Given the description of an element on the screen output the (x, y) to click on. 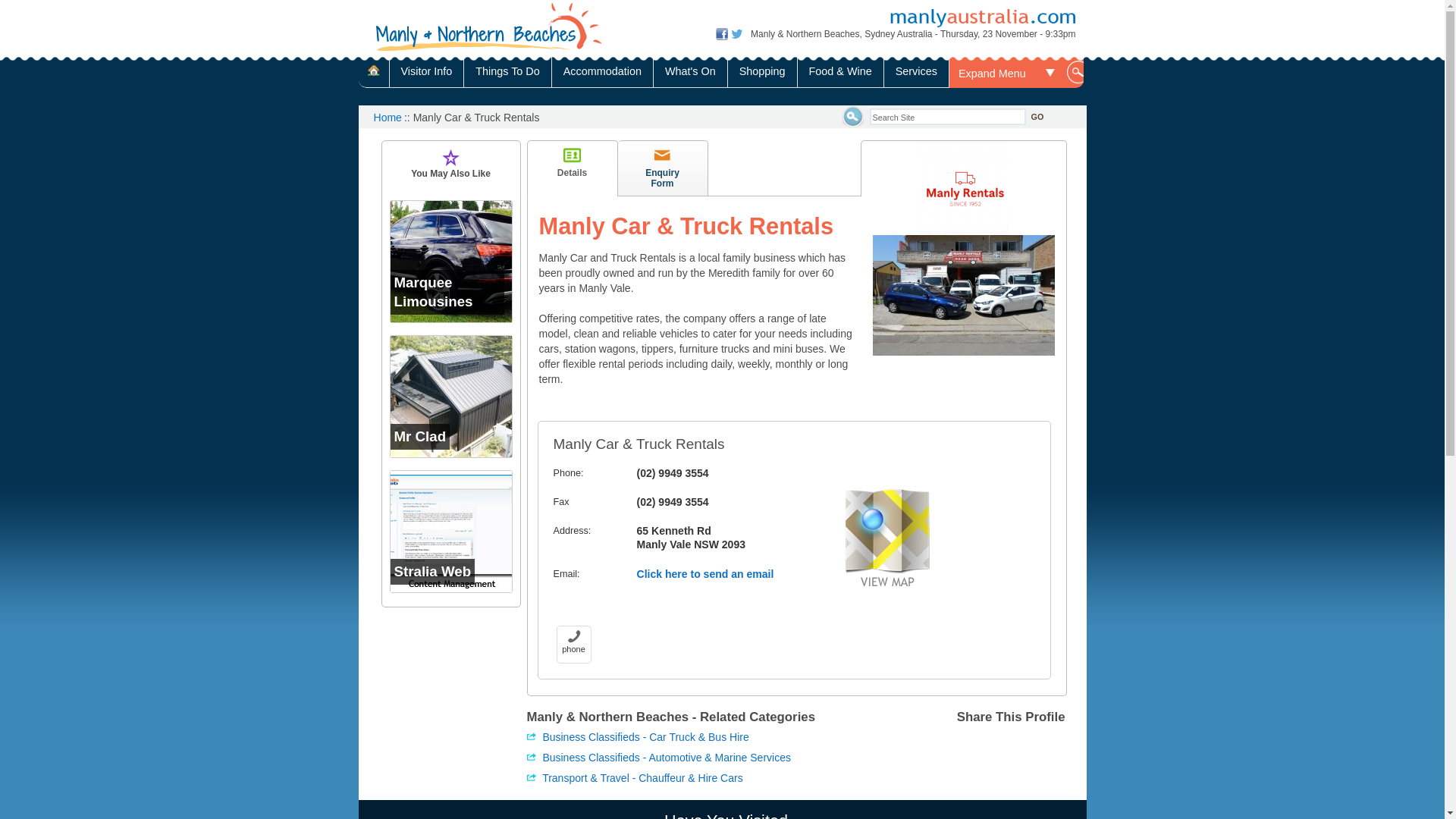
Shopping Element type: text (762, 71)
Business Classifieds - Automotive & Marine Services Element type: text (692, 757)
Manly & Northern Beaches Australia on Twitter Element type: hover (737, 36)
Accommodation Element type: text (601, 71)
Enquiry
Form Element type: text (662, 167)
Details Element type: text (571, 168)
  Element type: text (497, 26)
Transport & Travel - Chauffeur & Hire Cars Element type: text (692, 777)
Business Classifieds - Car Truck & Bus Hire Element type: text (692, 737)
Go Element type: text (1037, 116)
Home Element type: text (387, 117)
Click here to send an email Element type: text (705, 573)
Marquee Limousines Element type: text (450, 261)
Go Element type: text (959, 131)
Food & Wine Element type: text (840, 71)
What's On Element type: text (689, 71)
!
phone Element type: text (573, 644)
Manly & Northern Beaches Australia on Facebook Element type: hover (721, 36)
Services Element type: text (915, 71)
Things To Do Element type: text (507, 71)
Visitor Info Element type: text (425, 71)
Mr Clad Element type: text (450, 396)
Stralia Web Element type: text (450, 531)
